Given the description of an element on the screen output the (x, y) to click on. 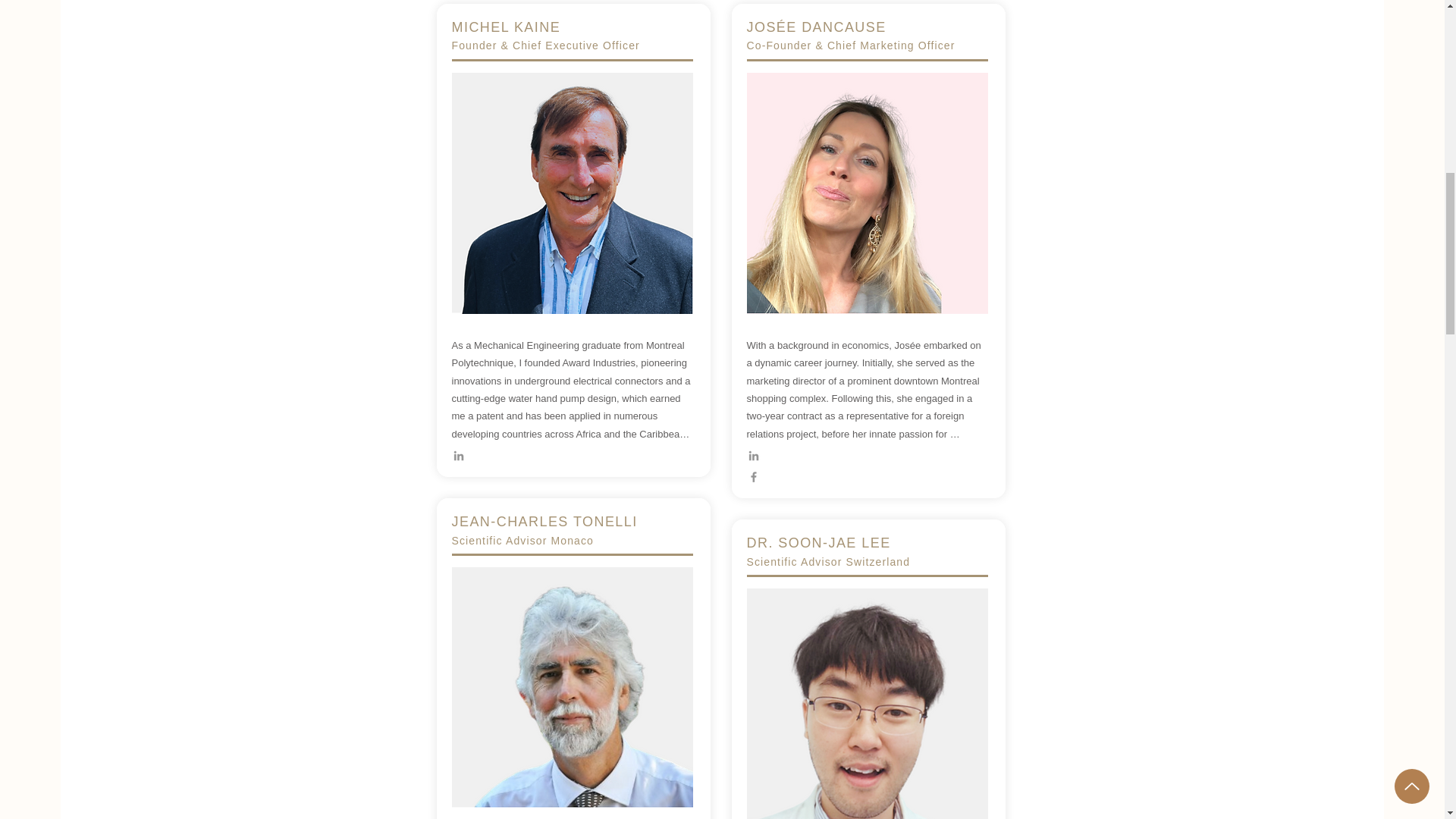
Dr. Soon-Jae Lee (866, 703)
Josee Dancause (866, 192)
Dr. Soon-Jae Lee (572, 687)
Michel Kaine (572, 192)
